Given the description of an element on the screen output the (x, y) to click on. 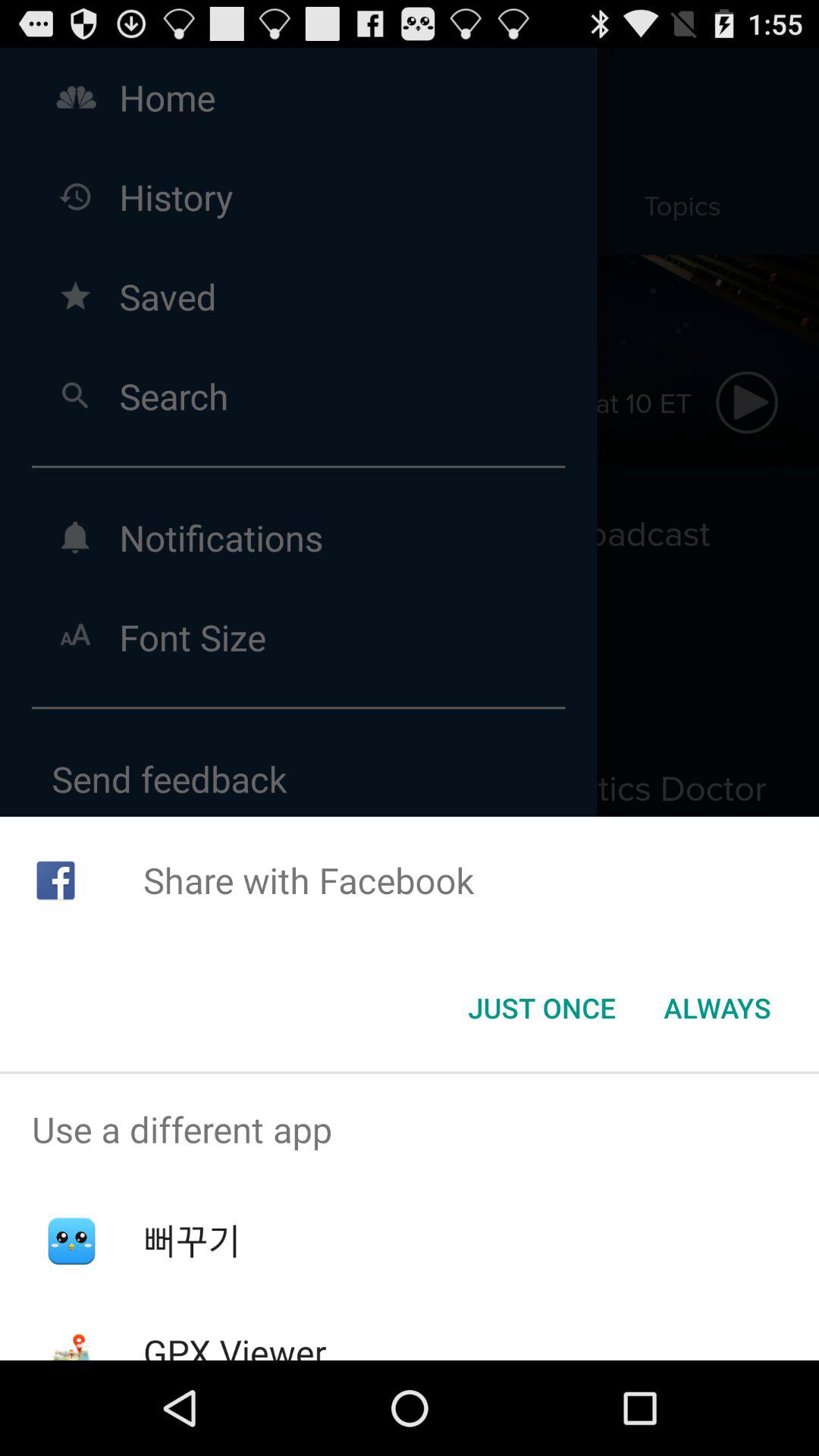
turn off icon at the bottom right corner (717, 1007)
